Given the description of an element on the screen output the (x, y) to click on. 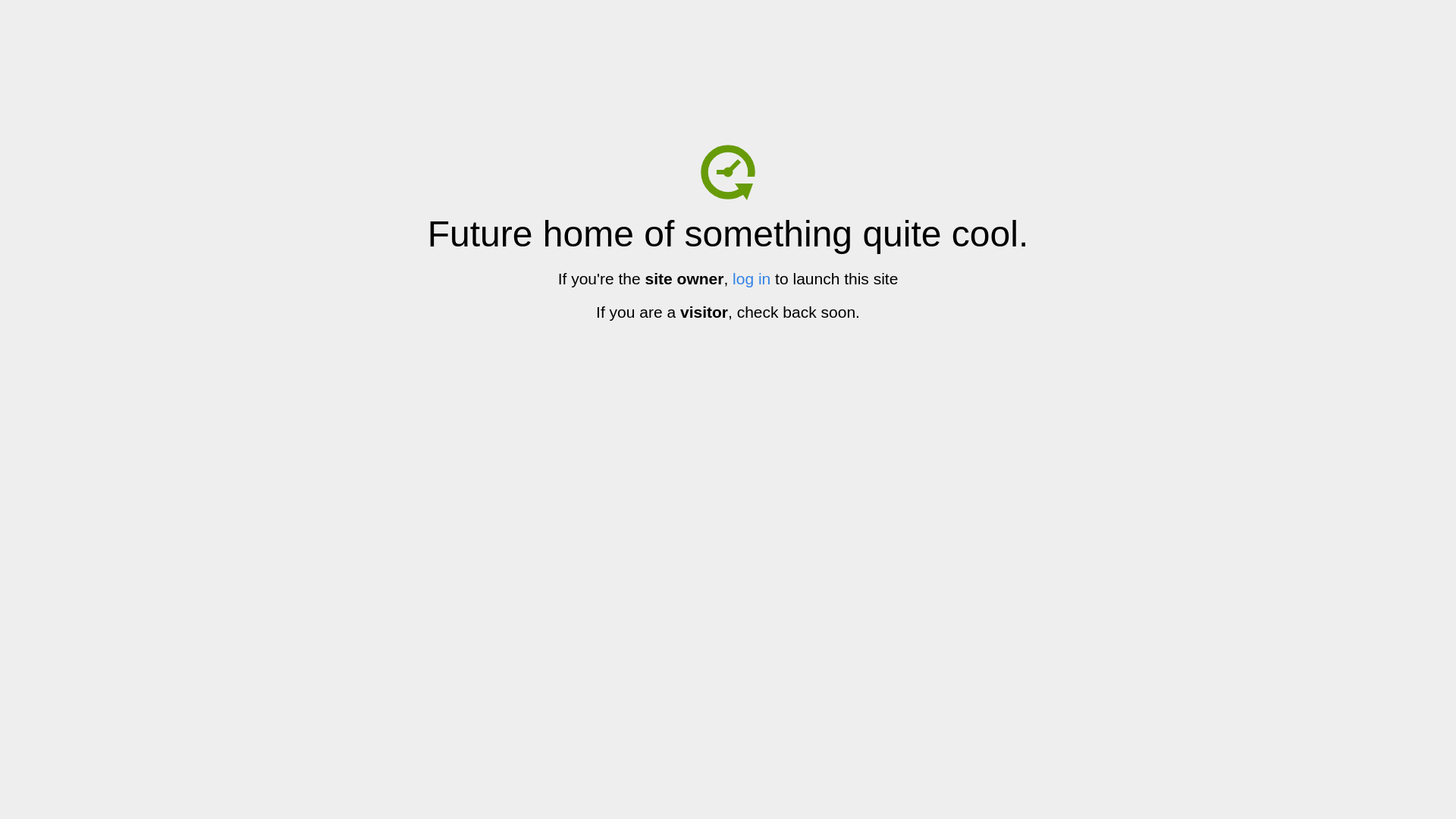
log in Element type: text (751, 278)
